Given the description of an element on the screen output the (x, y) to click on. 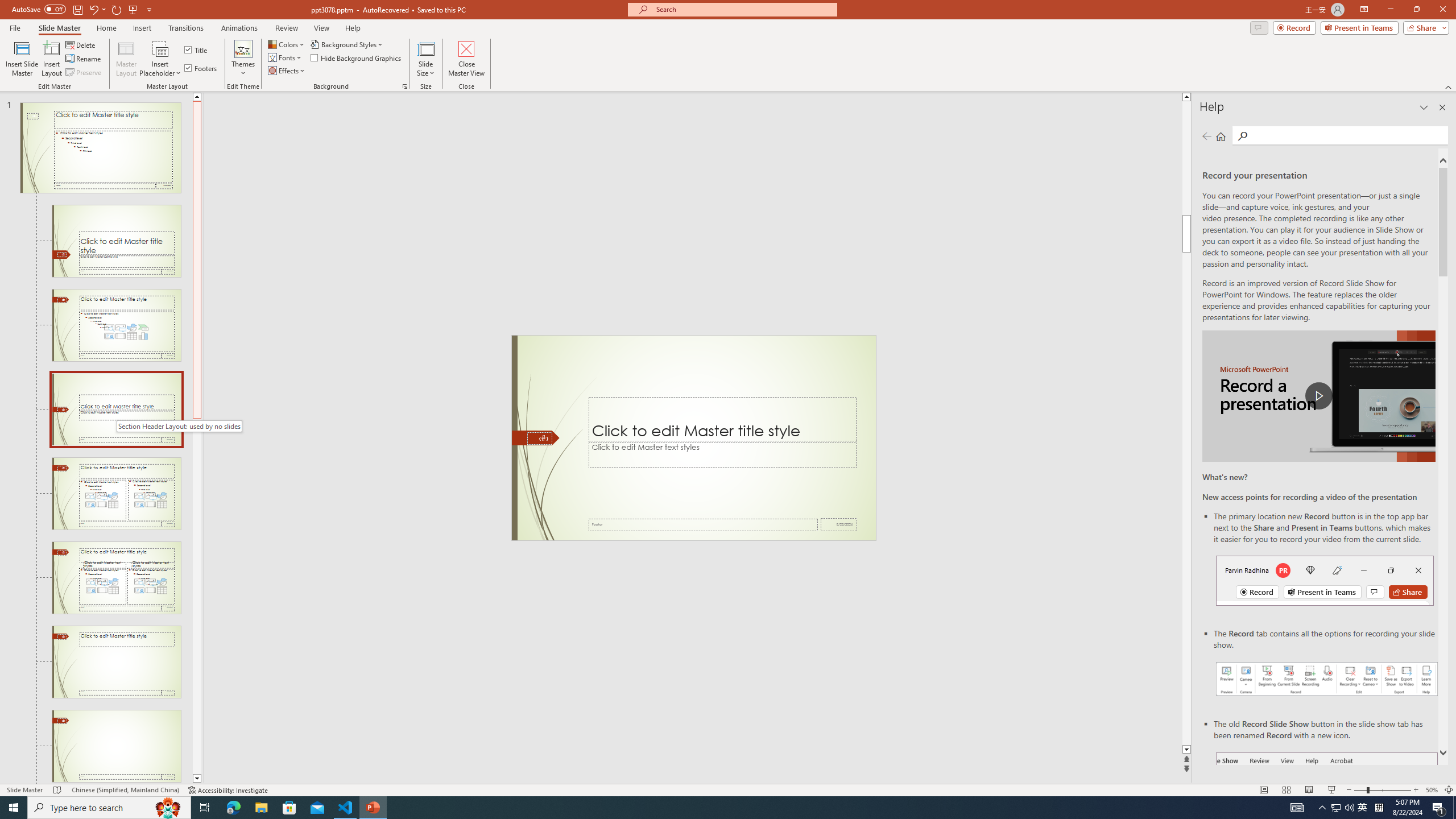
Insert Layout (51, 58)
Slide Title and Content Layout: used by no slides (116, 325)
Slide Title Only Layout: used by no slides (116, 661)
Preserve (84, 72)
Colors (287, 44)
Freeform 11 (535, 437)
Date (839, 524)
Slide Wisp Slide Master: used by slide(s) 1 (100, 147)
